Given the description of an element on the screen output the (x, y) to click on. 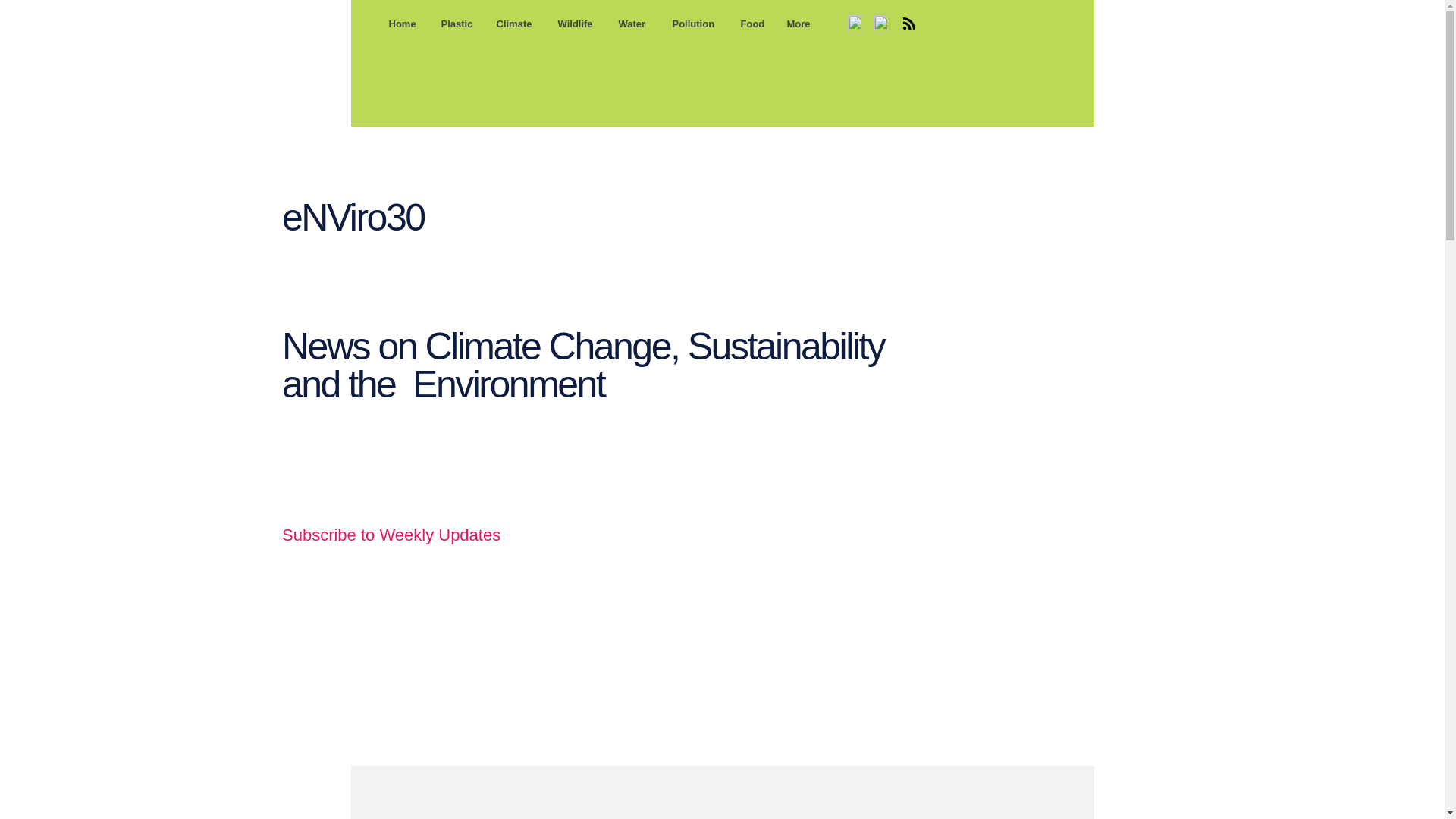
Home (403, 24)
Food (752, 24)
Pollution (695, 24)
Plastic (456, 24)
Water (634, 24)
eNViro30  (357, 217)
Climate (515, 24)
Wildlife (576, 24)
News on Climate Change, Sustainability and the  Environment (582, 365)
Subscribe to Weekly Updates (391, 534)
